Given the description of an element on the screen output the (x, y) to click on. 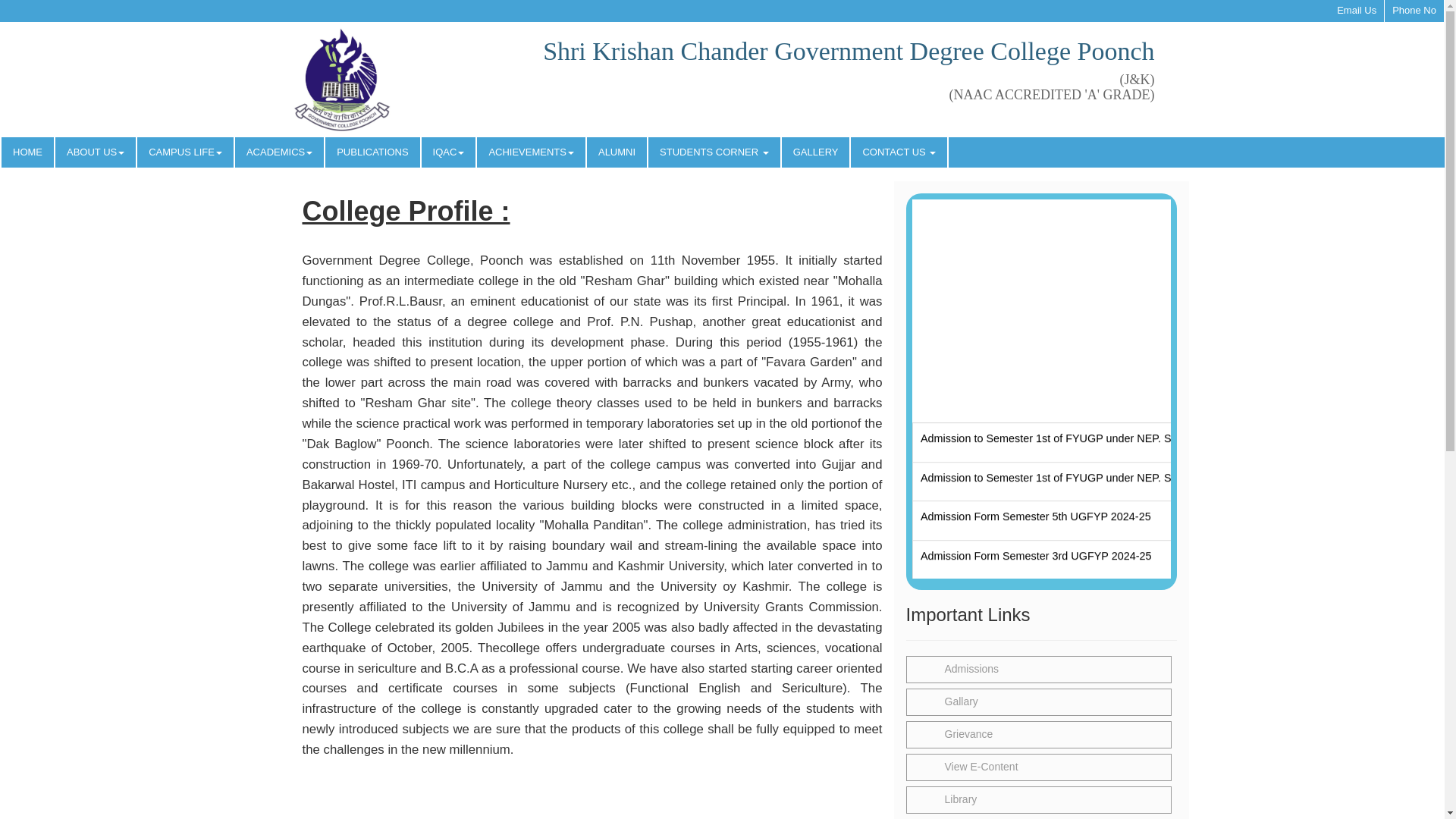
ACADEMICS (279, 152)
ABOUT US (95, 152)
Phone No (1414, 11)
HOME (27, 152)
Email Us (1356, 11)
CAMPUS LIFE (185, 152)
